Given the description of an element on the screen output the (x, y) to click on. 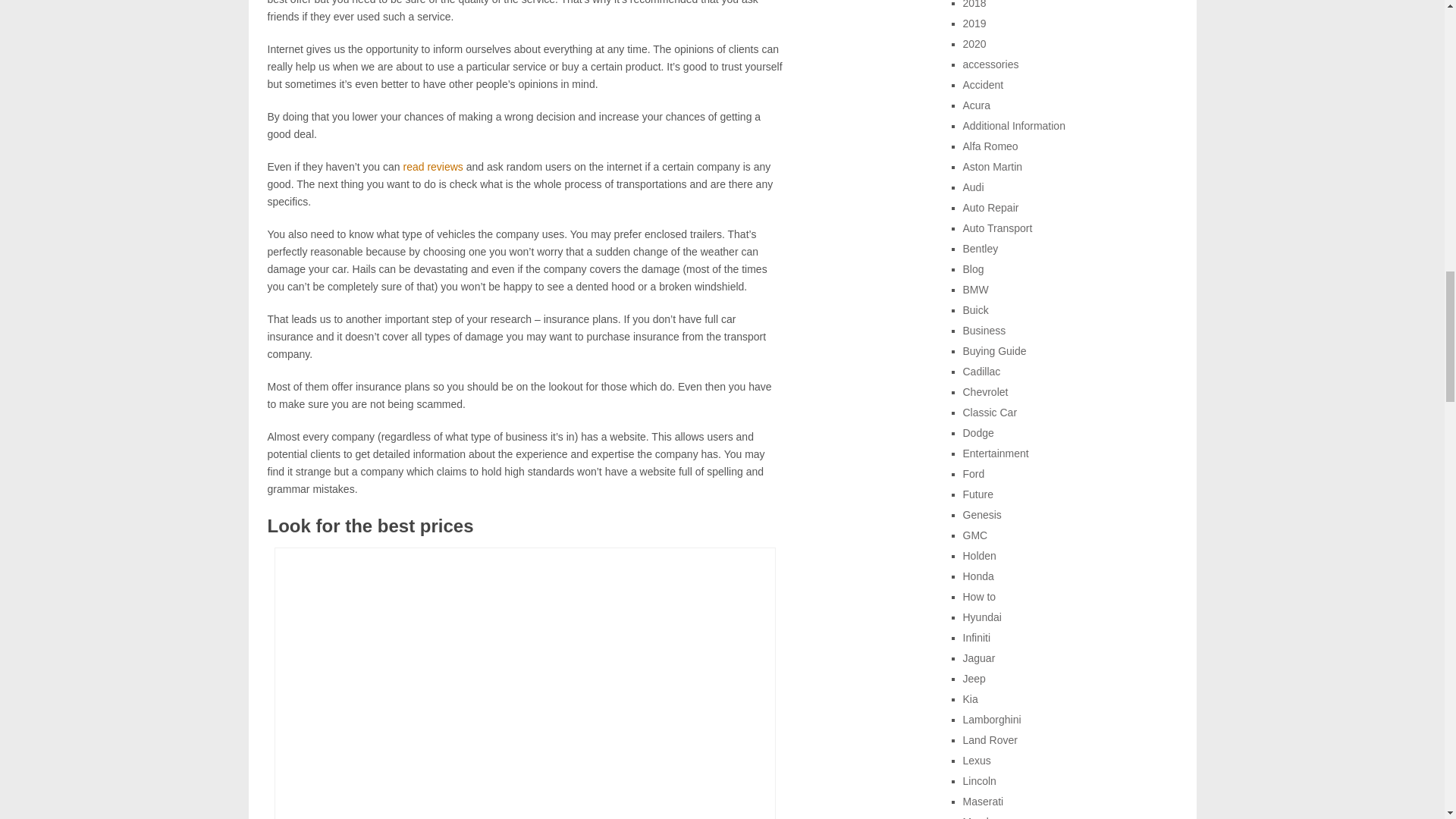
read reviews (433, 166)
2018 (974, 4)
2019 (974, 23)
